Given the description of an element on the screen output the (x, y) to click on. 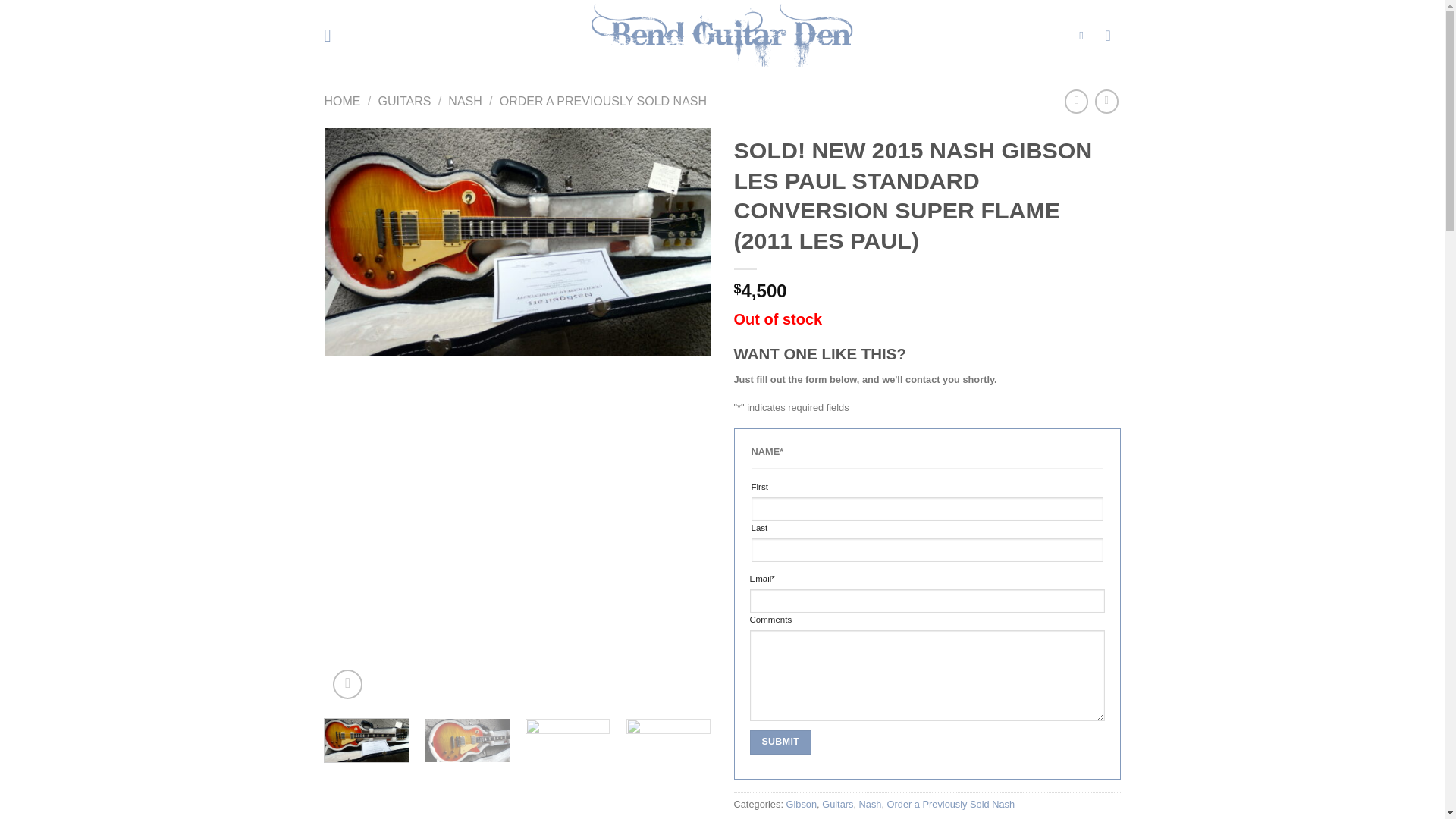
Zoom (347, 684)
NASH (464, 101)
ORDER A PREVIOUSLY SOLD NASH (602, 101)
HOME (342, 101)
Submit (779, 742)
GUITARS (403, 101)
